Given the description of an element on the screen output the (x, y) to click on. 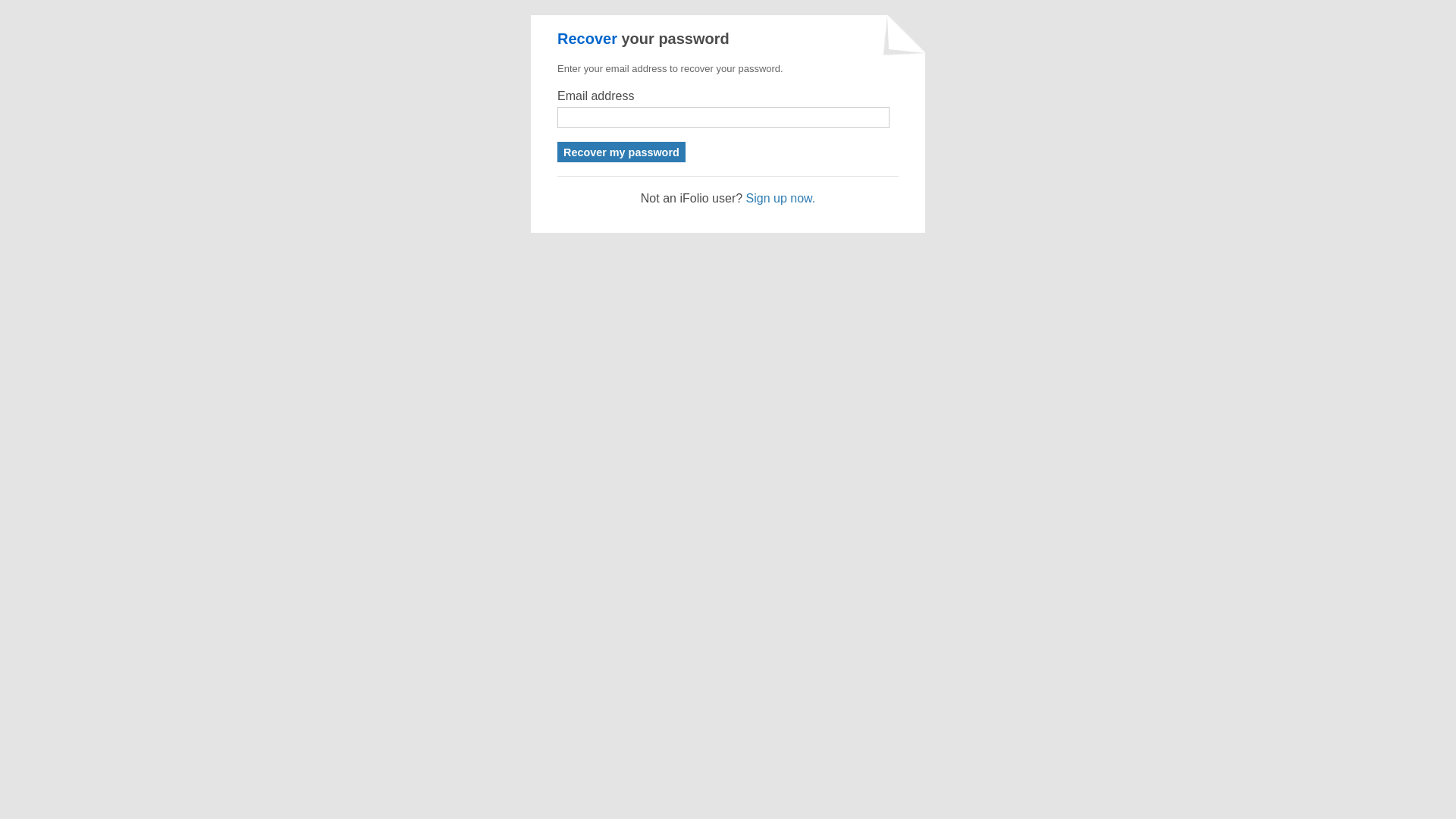
Sign up now. Element type: text (780, 197)
Recover my password Element type: text (621, 151)
